Given the description of an element on the screen output the (x, y) to click on. 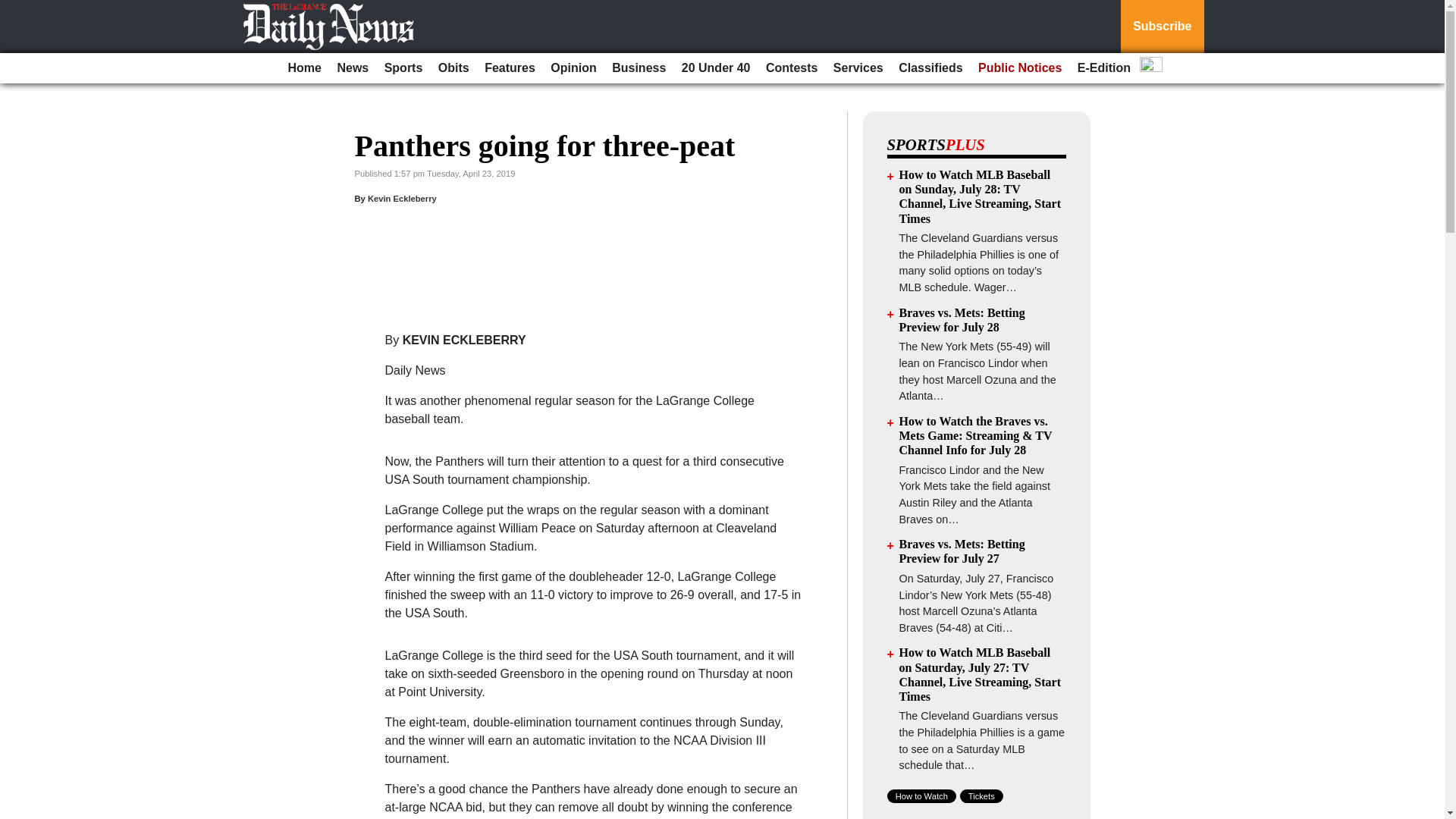
Kevin Eckleberry (402, 198)
Braves vs. Mets: Betting Preview for July 28 (962, 319)
Tickets (981, 796)
Classifieds (930, 68)
Public Notices (1019, 68)
Business (638, 68)
Services (858, 68)
How to Watch (921, 796)
Features (510, 68)
Braves vs. Mets: Betting Preview for July 27 (962, 551)
Home (304, 68)
Go (13, 9)
20 Under 40 (716, 68)
